Given the description of an element on the screen output the (x, y) to click on. 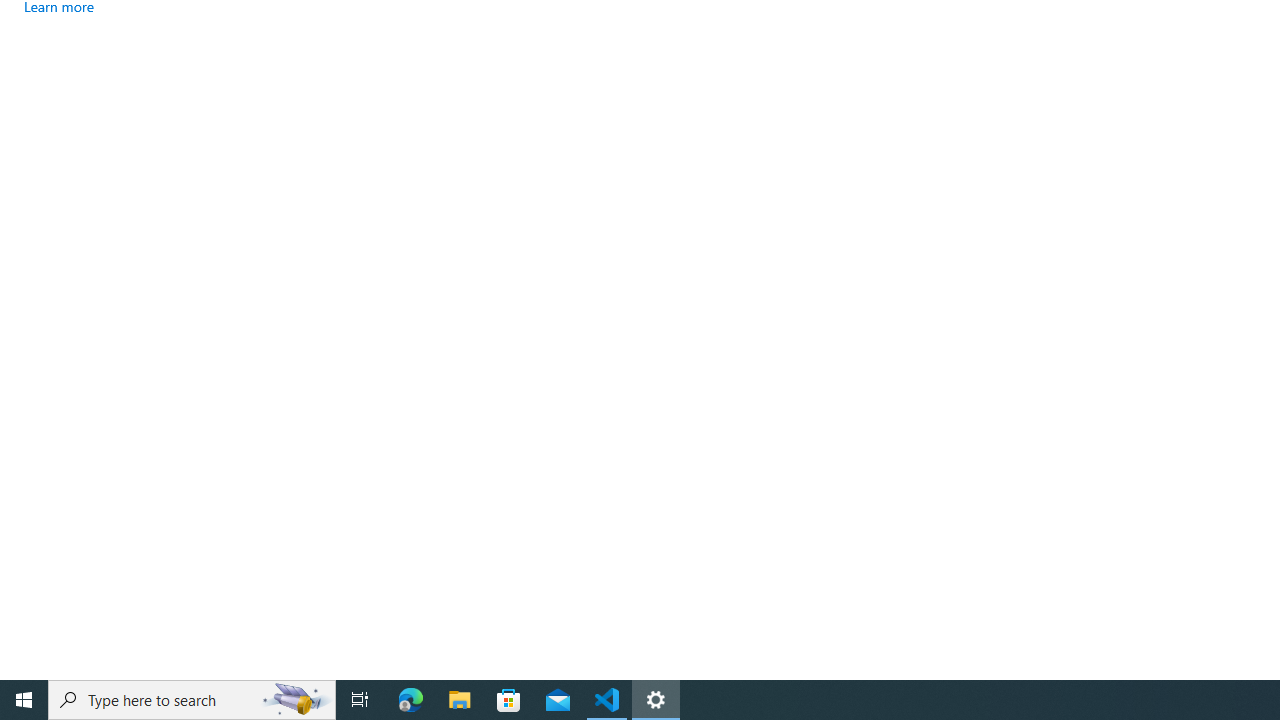
Settings - 1 running window (656, 699)
